Given the description of an element on the screen output the (x, y) to click on. 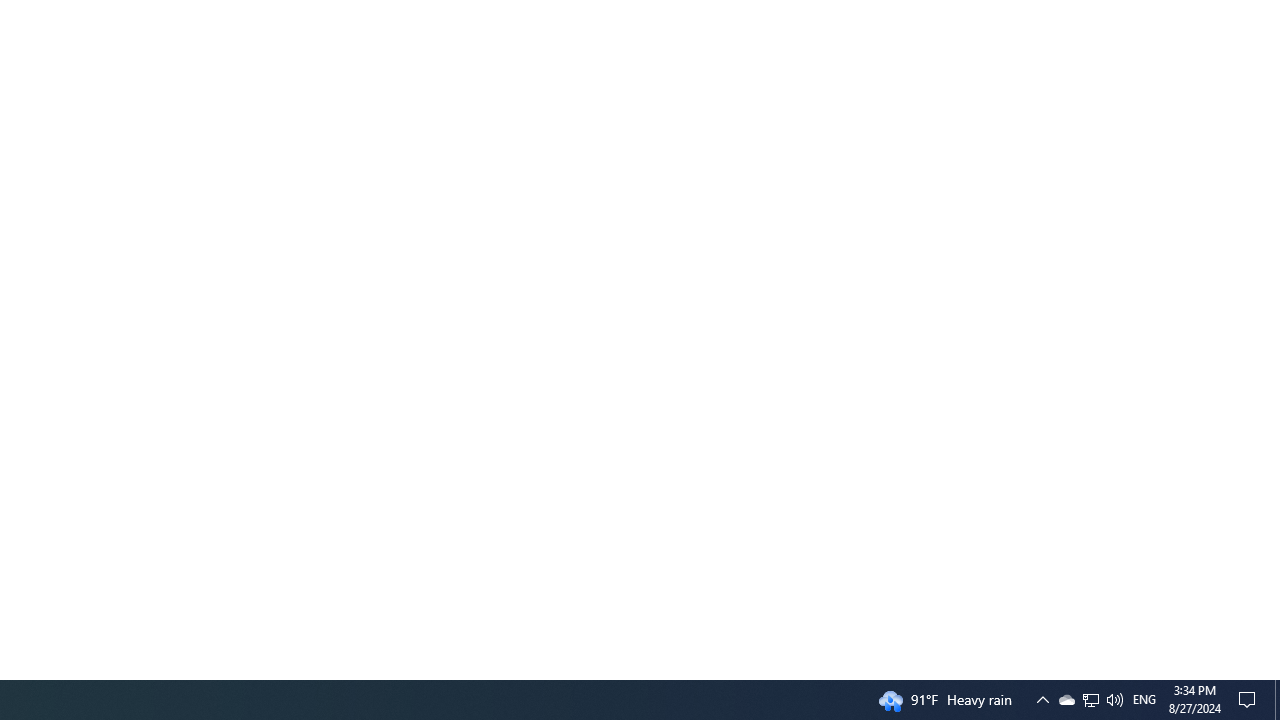
Q2790: 100% (1114, 699)
Show desktop (1277, 699)
Action Center, No new notifications (1091, 699)
Notification Chevron (1250, 699)
User Promoted Notification Area (1042, 699)
Tray Input Indicator - English (United States) (1066, 699)
